Given the description of an element on the screen output the (x, y) to click on. 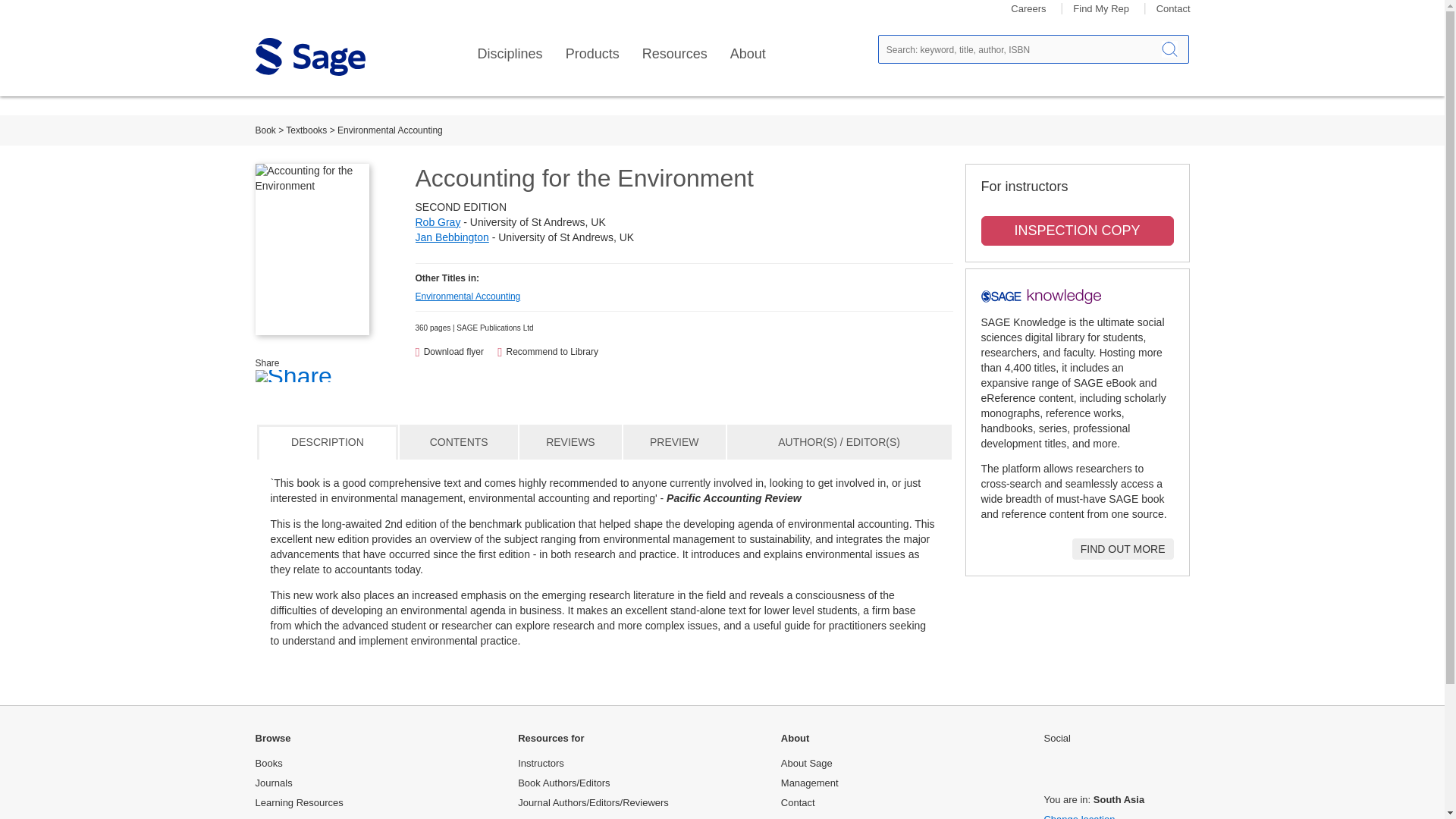
Sage: Find my rep (1101, 8)
Find My Rep (1101, 8)
Contact (1173, 8)
Search (1169, 48)
Careers (1027, 8)
Disciplines (509, 53)
Sage logo: link back to homepage (309, 56)
